Given the description of an element on the screen output the (x, y) to click on. 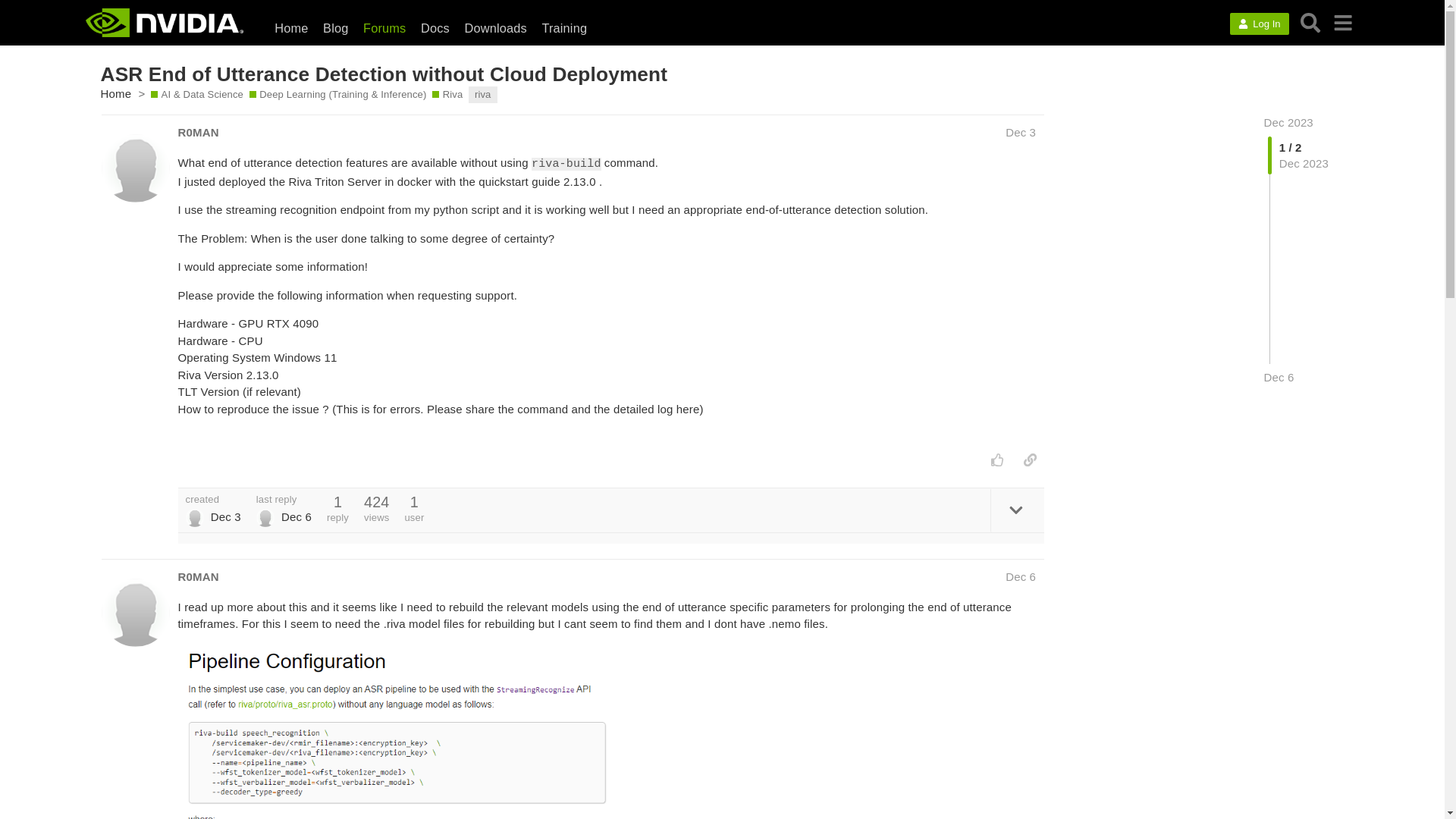
Downloads (495, 27)
Home (290, 27)
Home (290, 27)
like this post (997, 459)
Blog (335, 27)
ASR End of Utterance Detection without Cloud Deployment (384, 73)
share a link to this post (1029, 459)
Blog (335, 27)
Dec 6 (1278, 376)
Downloads (495, 27)
Search the Forums (1310, 22)
Forums (384, 27)
Forums (384, 27)
Training (564, 27)
R0MAN (198, 576)
